Given the description of an element on the screen output the (x, y) to click on. 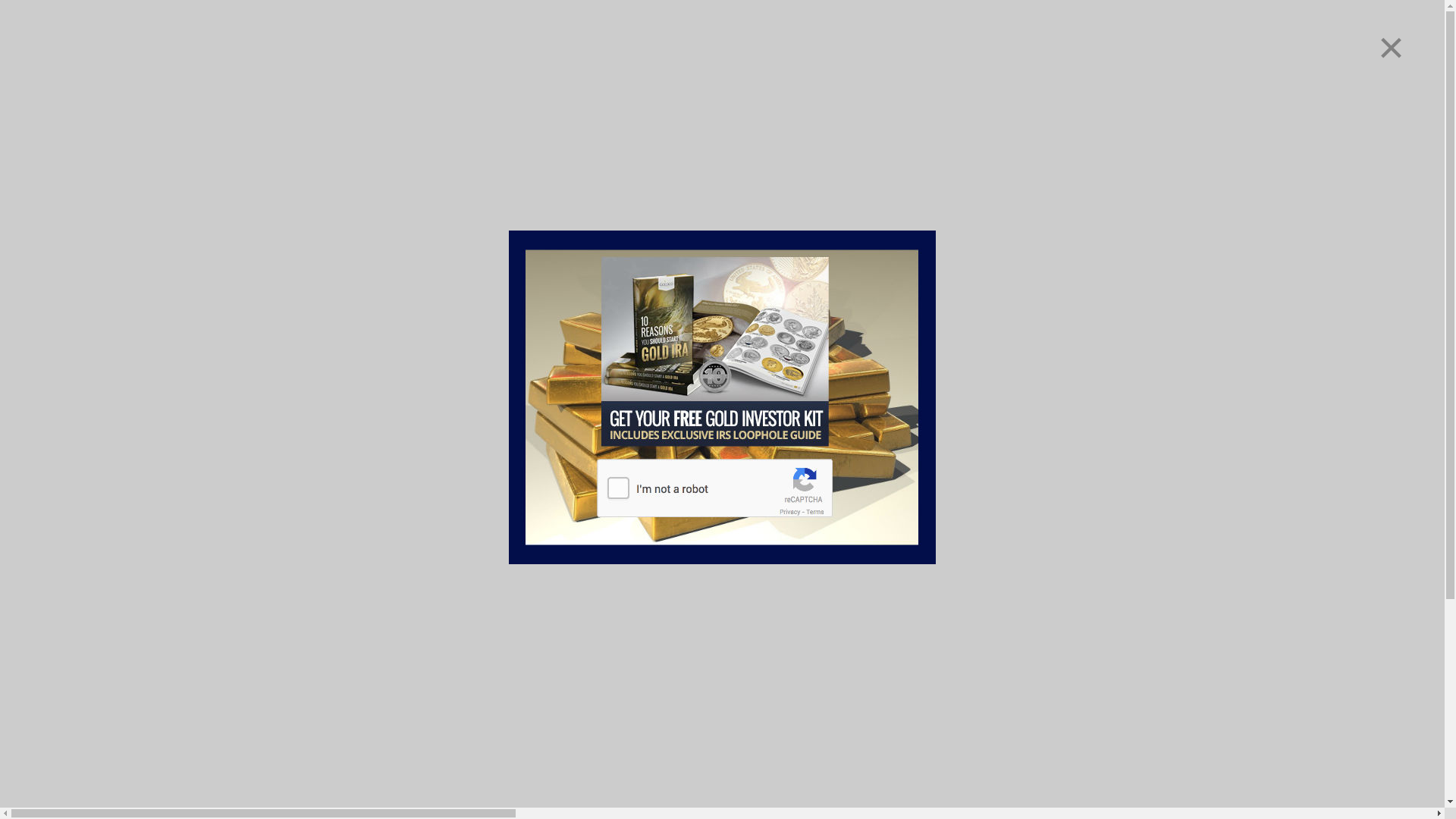
Legal (50, 510)
Home (52, 496)
Sitemap (58, 523)
